Given the description of an element on the screen output the (x, y) to click on. 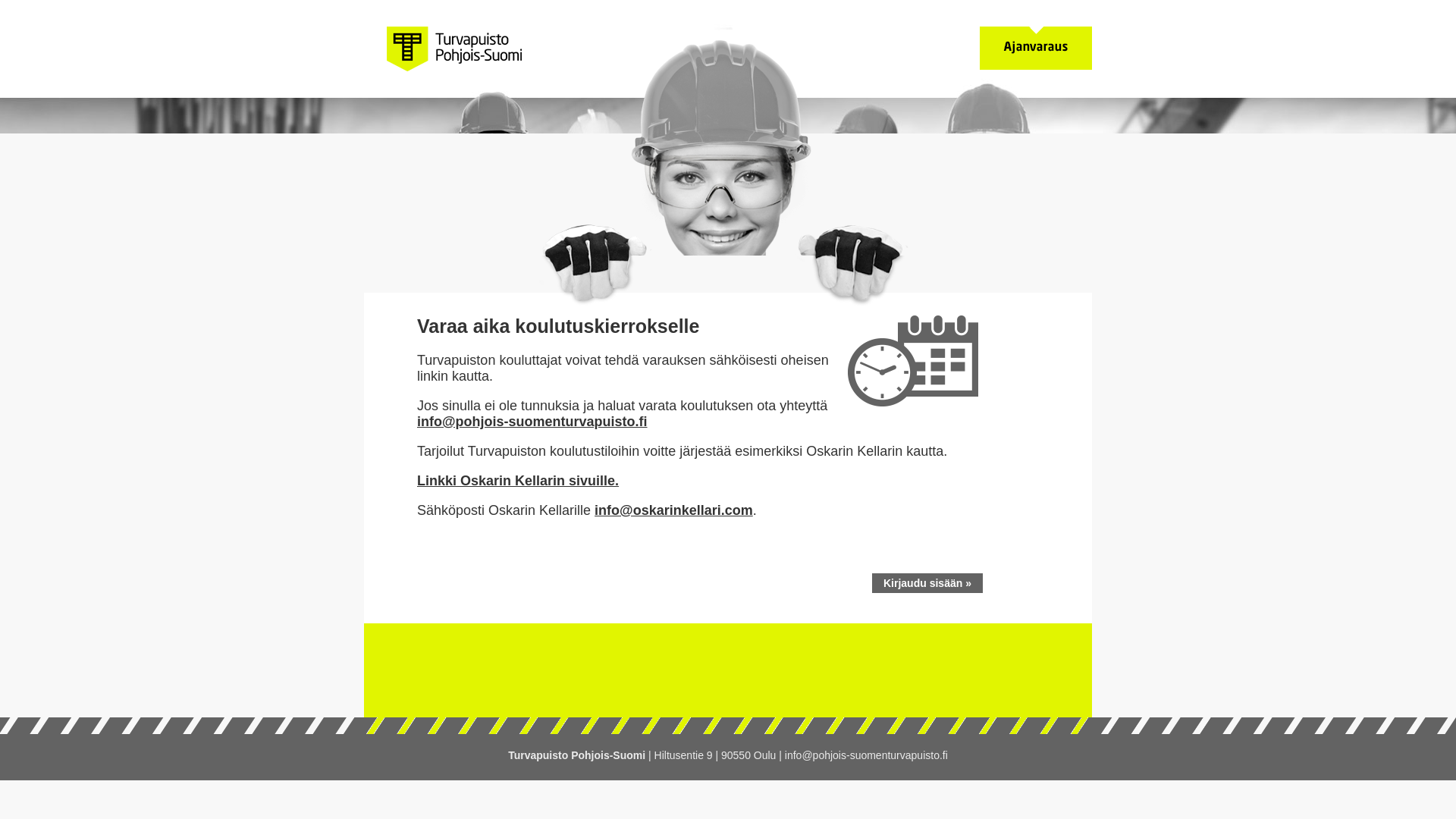
Linkki Oskarin Kellarin sivuille. (517, 480)
Ajanvaraus (1035, 47)
